Given the description of an element on the screen output the (x, y) to click on. 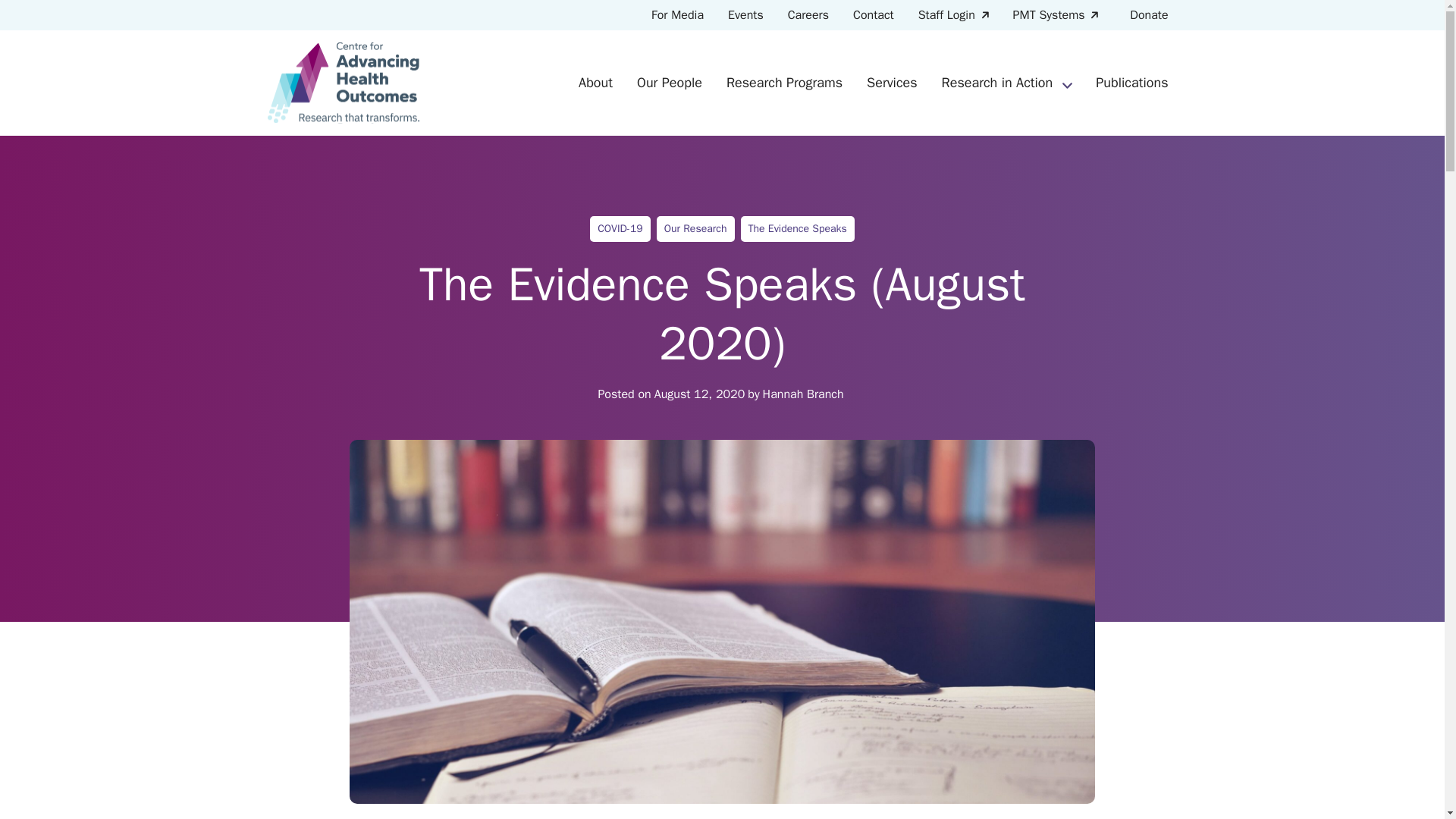
Contact (873, 15)
Research Programs (784, 82)
Staff Login (952, 15)
Careers (808, 15)
Our People (669, 82)
Services (891, 82)
About (595, 82)
Research in Action (997, 82)
Events (746, 15)
For Media (677, 15)
